Given the description of an element on the screen output the (x, y) to click on. 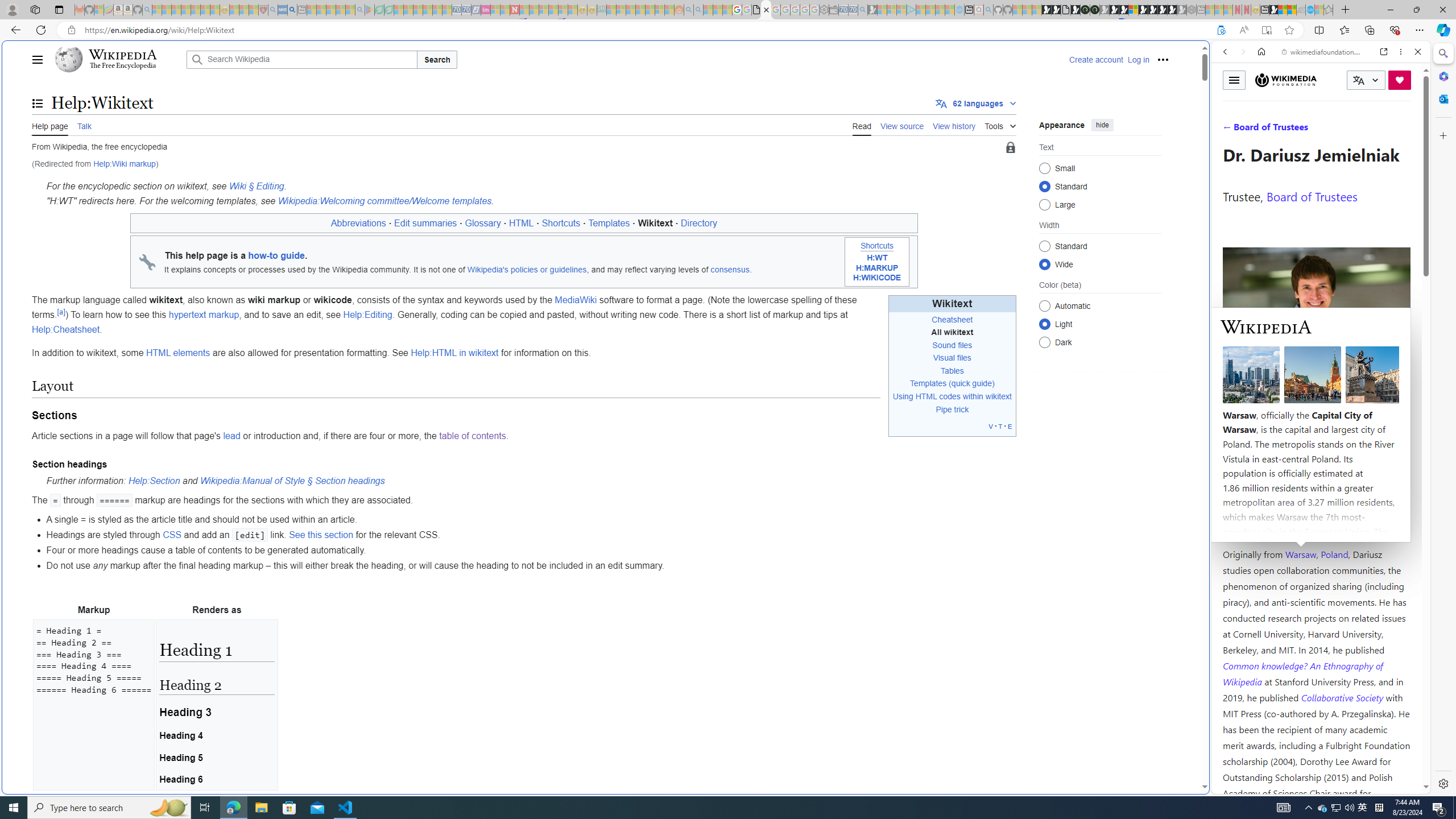
Toggle menu (1233, 80)
Wikipedia The Free Encyclopedia (117, 59)
H:WIKICODE (877, 277)
Pipe trick (952, 409)
Wide (1044, 263)
Wikimedia Foundation (1285, 79)
Pipe trick (951, 409)
View source (902, 124)
Profile on Meta-Wiki (1273, 405)
Using HTML codes within wikitext (951, 396)
Class: i icon icon-translate language-switcher__icon (1358, 80)
